Given the description of an element on the screen output the (x, y) to click on. 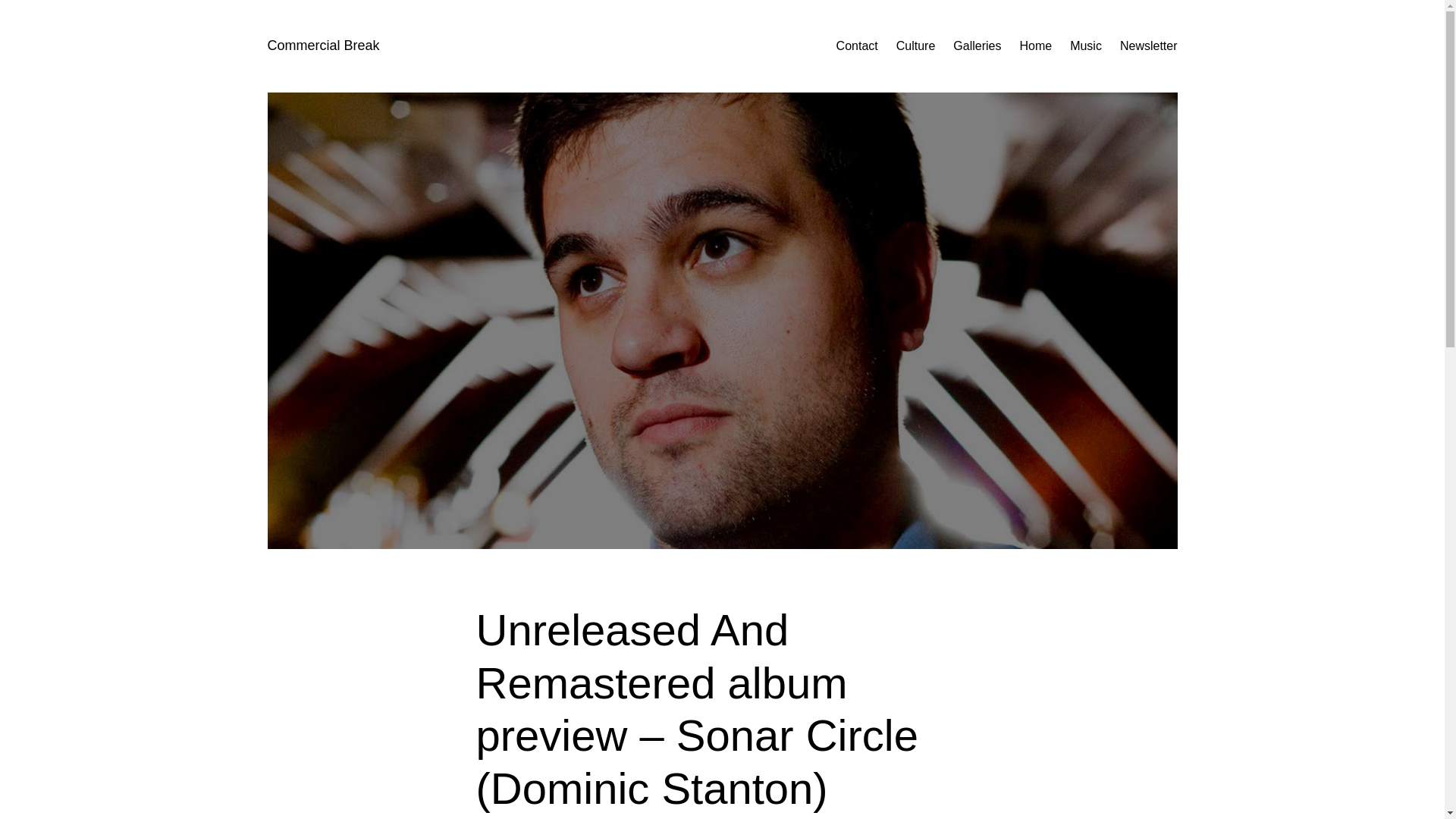
Music (1086, 46)
Newsletter (1148, 46)
Culture (916, 46)
Commercial Break (322, 45)
Contact (856, 46)
Galleries (977, 46)
Home (1035, 46)
